Given the description of an element on the screen output the (x, y) to click on. 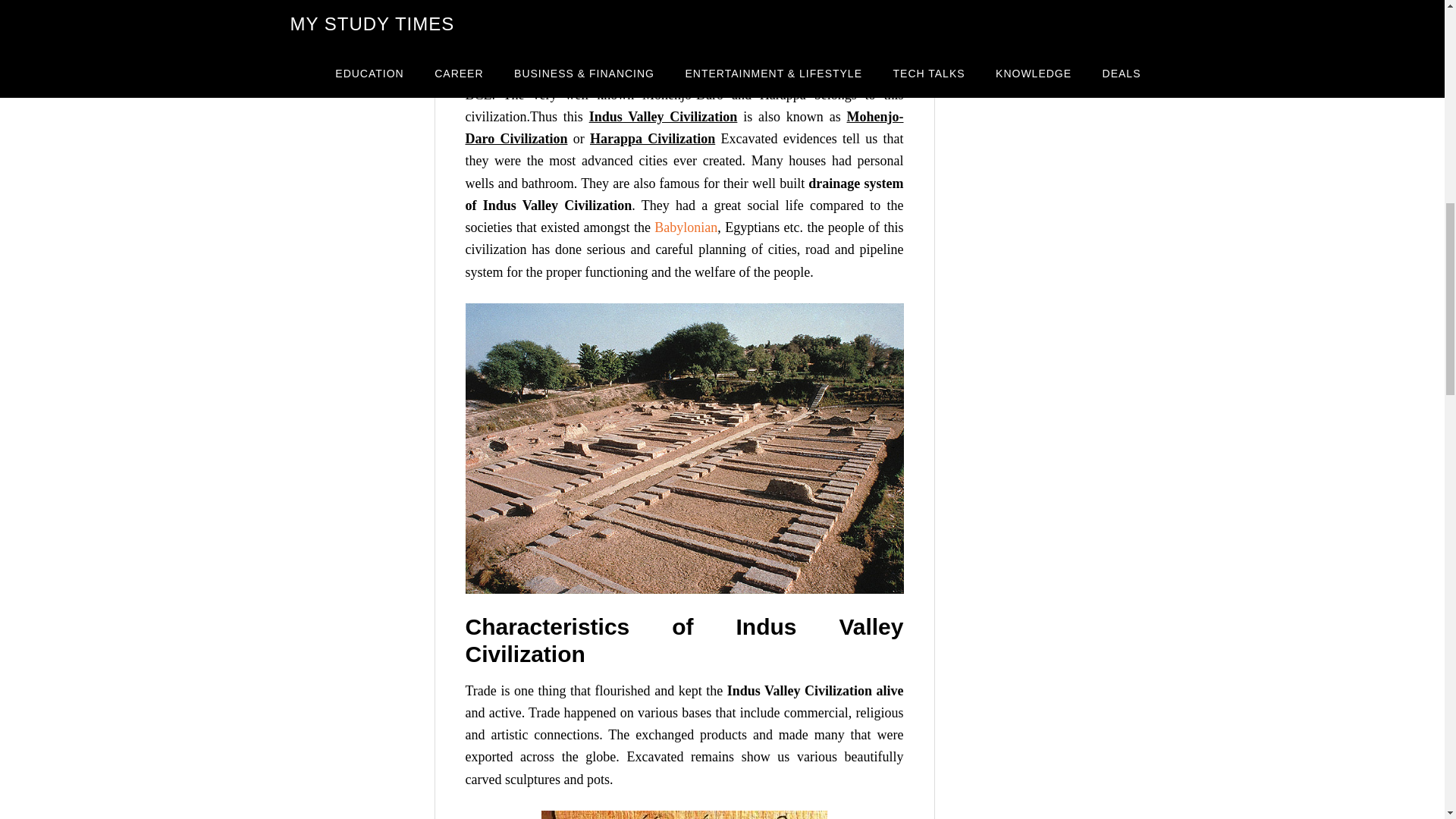
Indus Valley Civilization Essay, History, Article 3 (684, 814)
Indus Valley Civilization Essay, History, Article 2 (684, 448)
